Given the description of an element on the screen output the (x, y) to click on. 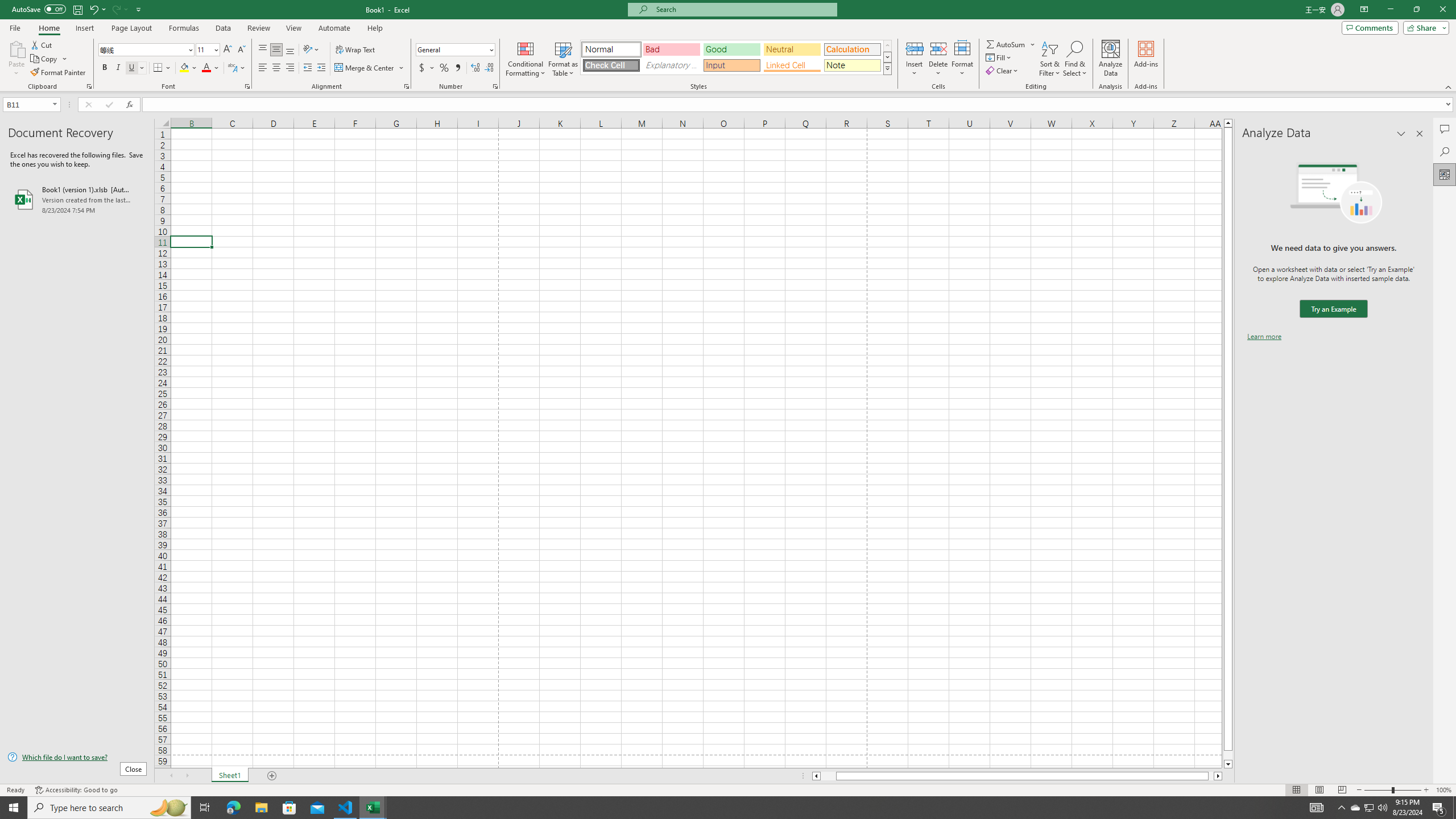
Center (276, 67)
Increase Decimal (474, 67)
We need data to give you answers. Try an Example (1333, 308)
Formula Bar (799, 104)
Cut (42, 44)
Font Color RGB(255, 0, 0) (206, 67)
Fill Color (188, 67)
Class: NetUIImage (887, 68)
Fill (999, 56)
Font Color (210, 67)
Delete Cells... (938, 48)
